Given the description of an element on the screen output the (x, y) to click on. 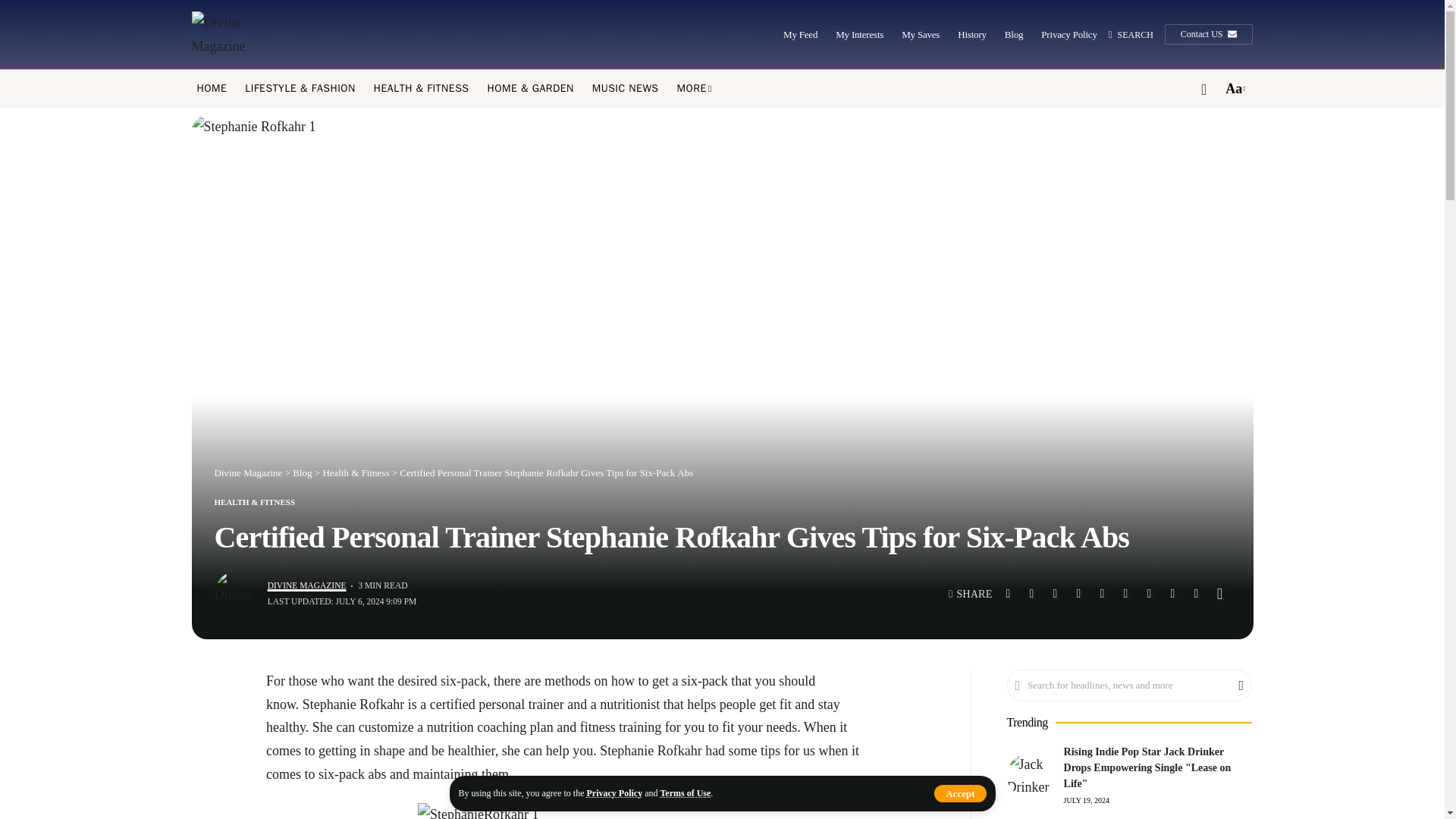
StephanieRofkahr 1 (568, 811)
HOME (211, 88)
My Saves (920, 34)
MUSIC NEWS (625, 88)
SEARCH (1130, 34)
MORE (694, 88)
My Interests (859, 34)
Accept (959, 793)
History (972, 34)
Blog (1013, 34)
Go to Divine Magazine. (248, 472)
Privacy Policy (1068, 34)
Go to Blog. (301, 472)
